Given the description of an element on the screen output the (x, y) to click on. 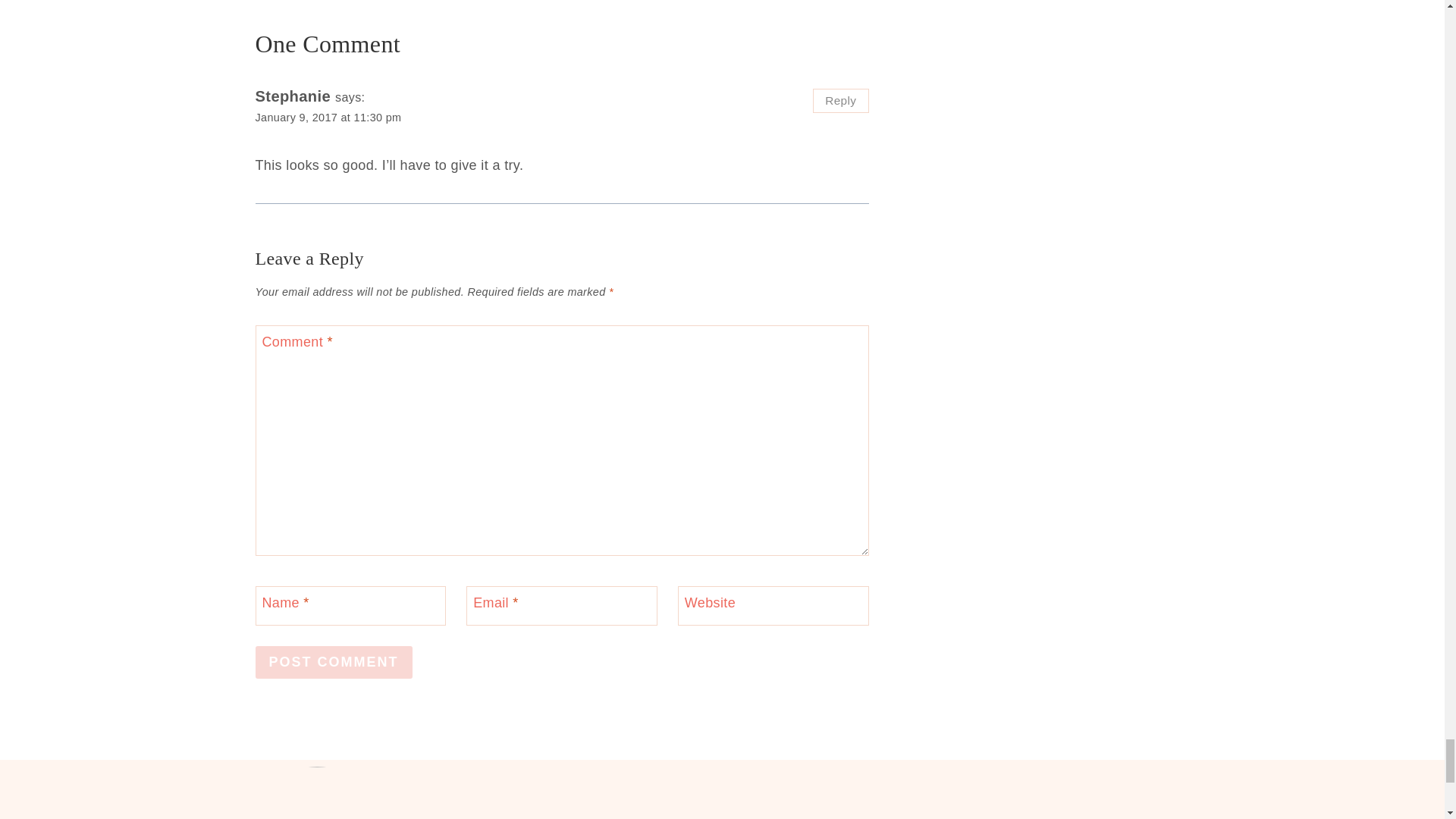
Post Comment (333, 662)
